Given the description of an element on the screen output the (x, y) to click on. 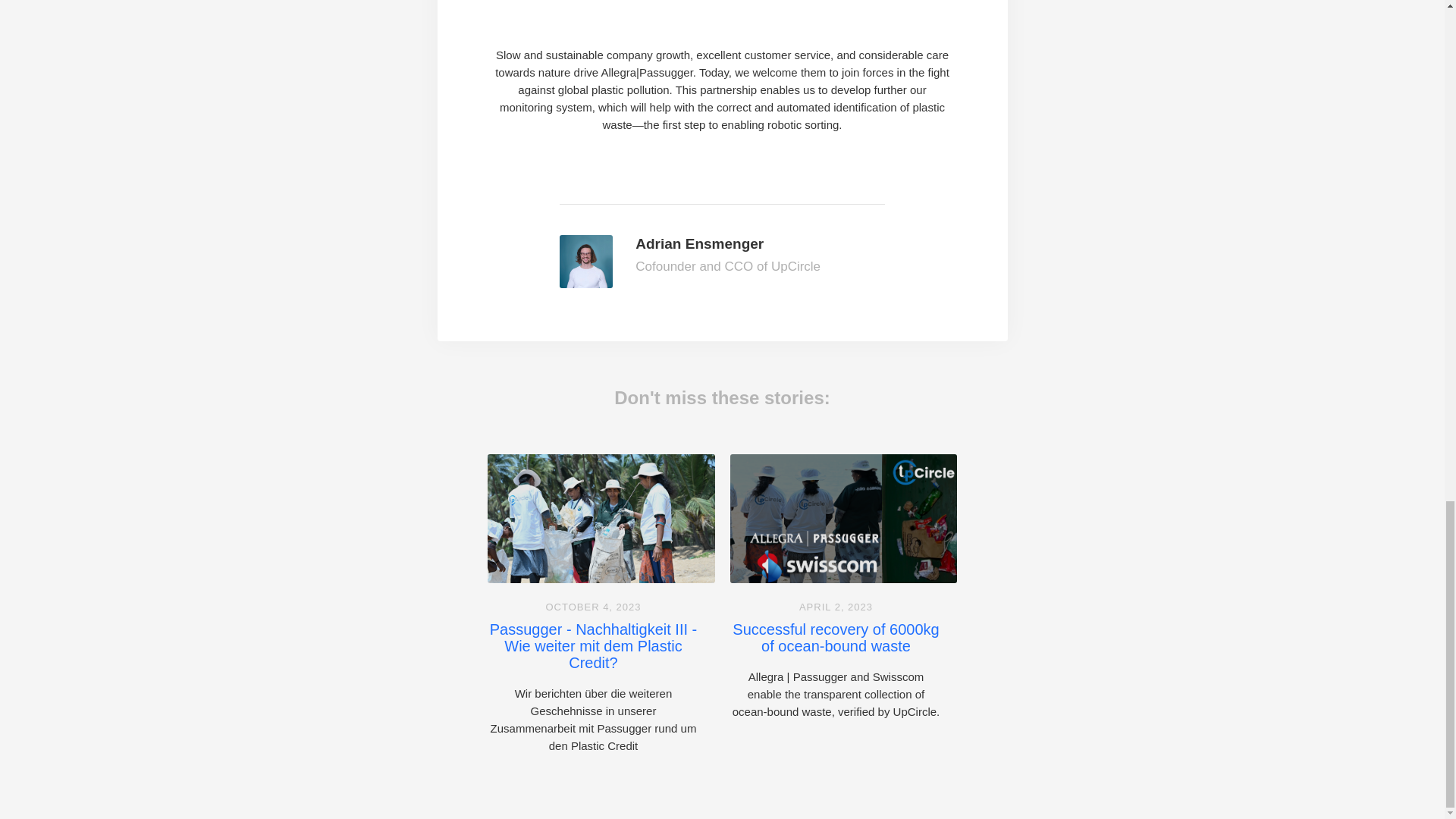
Successful recovery of 6000kg of ocean-bound waste (835, 637)
